Given the description of an element on the screen output the (x, y) to click on. 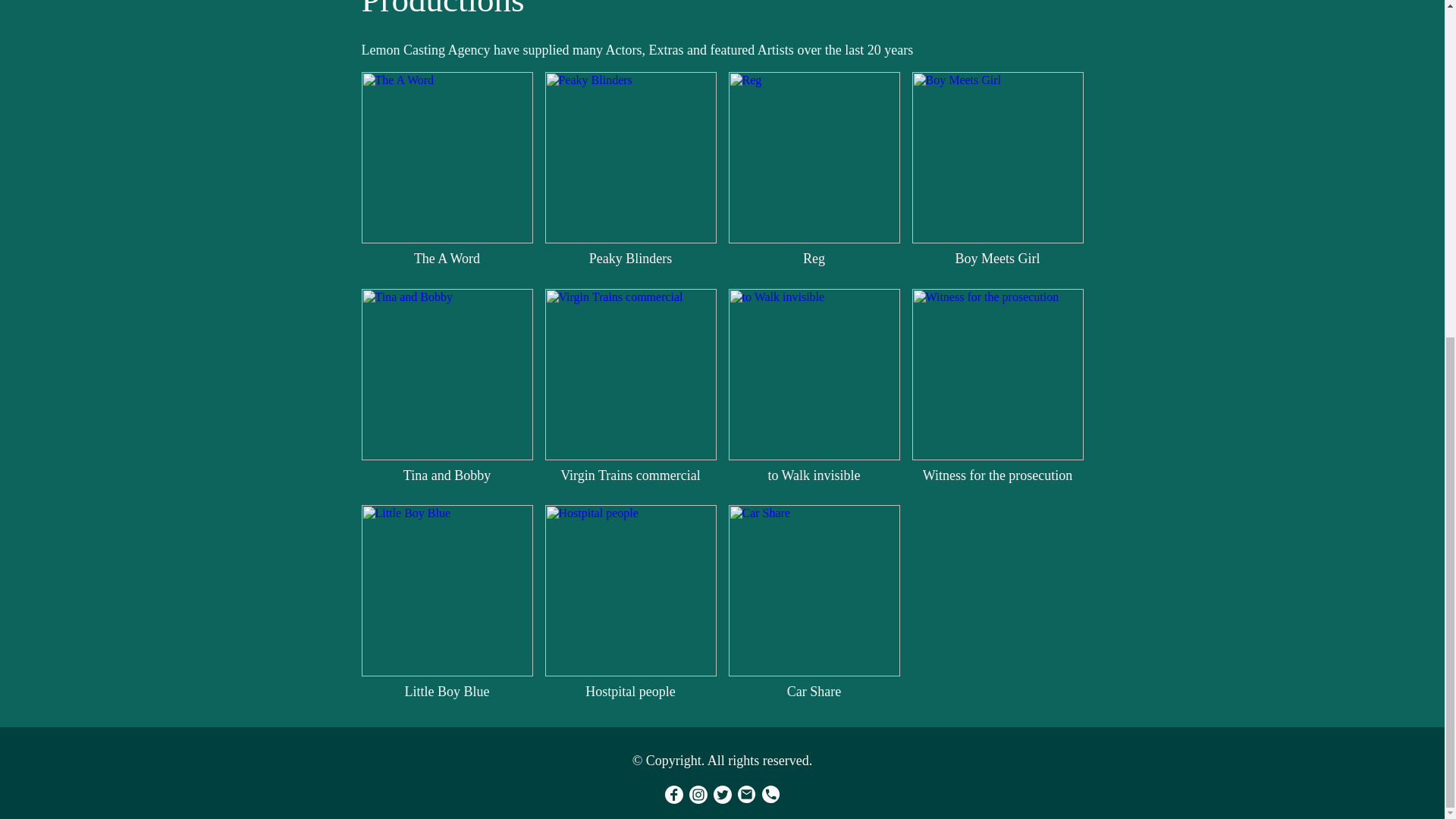
Virgin Trains commercial (630, 374)
to Walk invisible (813, 374)
Boy Meets Girl (997, 157)
The A Word (446, 157)
Witness for the prosecution (997, 374)
Hostpital people (630, 590)
Peaky Blinders (630, 157)
Car Share (813, 590)
Tina and Bobby (446, 374)
Little Boy Blue (446, 590)
